Given the description of an element on the screen output the (x, y) to click on. 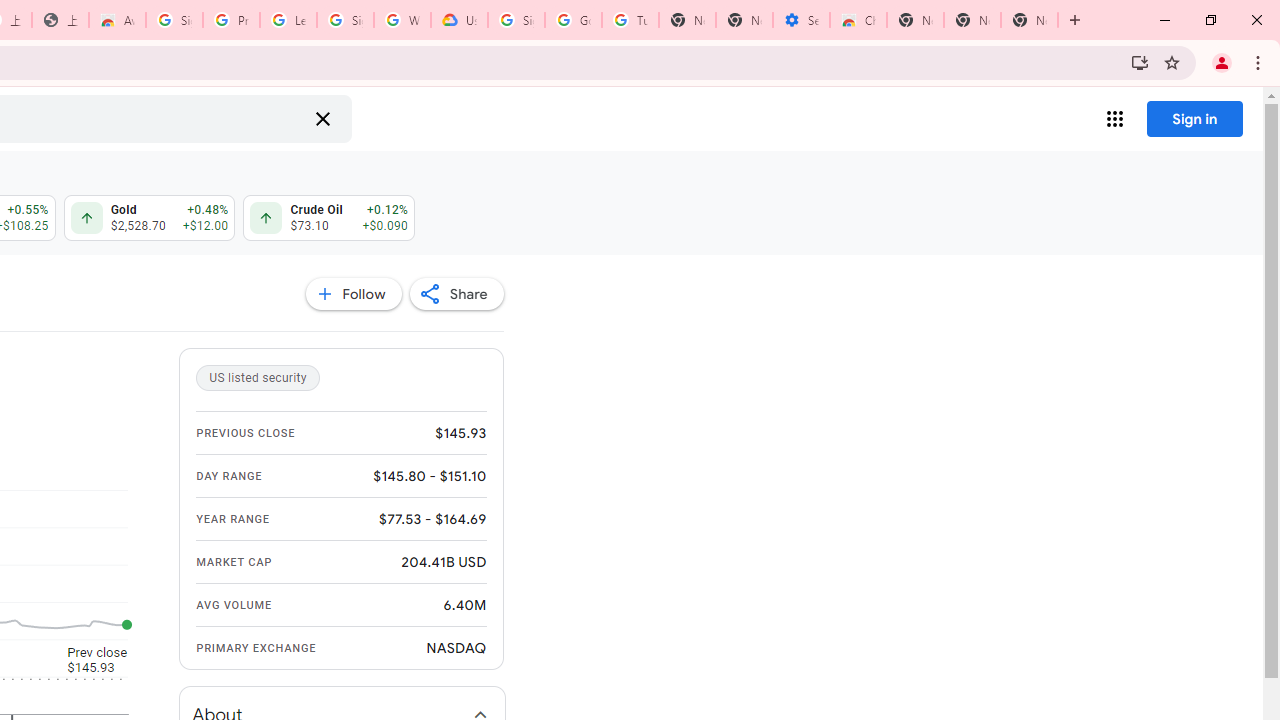
Google Account Help (573, 20)
Chrome (1260, 62)
Google apps (1114, 118)
Restore (1210, 20)
Settings - Accessibility (801, 20)
Clear search (322, 118)
Chrome Web Store - Accessibility extensions (858, 20)
Turn cookies on or off - Computer - Google Account Help (630, 20)
Bookmark this tab (1171, 62)
Crude Oil $73.10 $73.13 Up by 0.12% +$0.090 +$0.12 (329, 218)
Sign in - Google Accounts (345, 20)
